Given the description of an element on the screen output the (x, y) to click on. 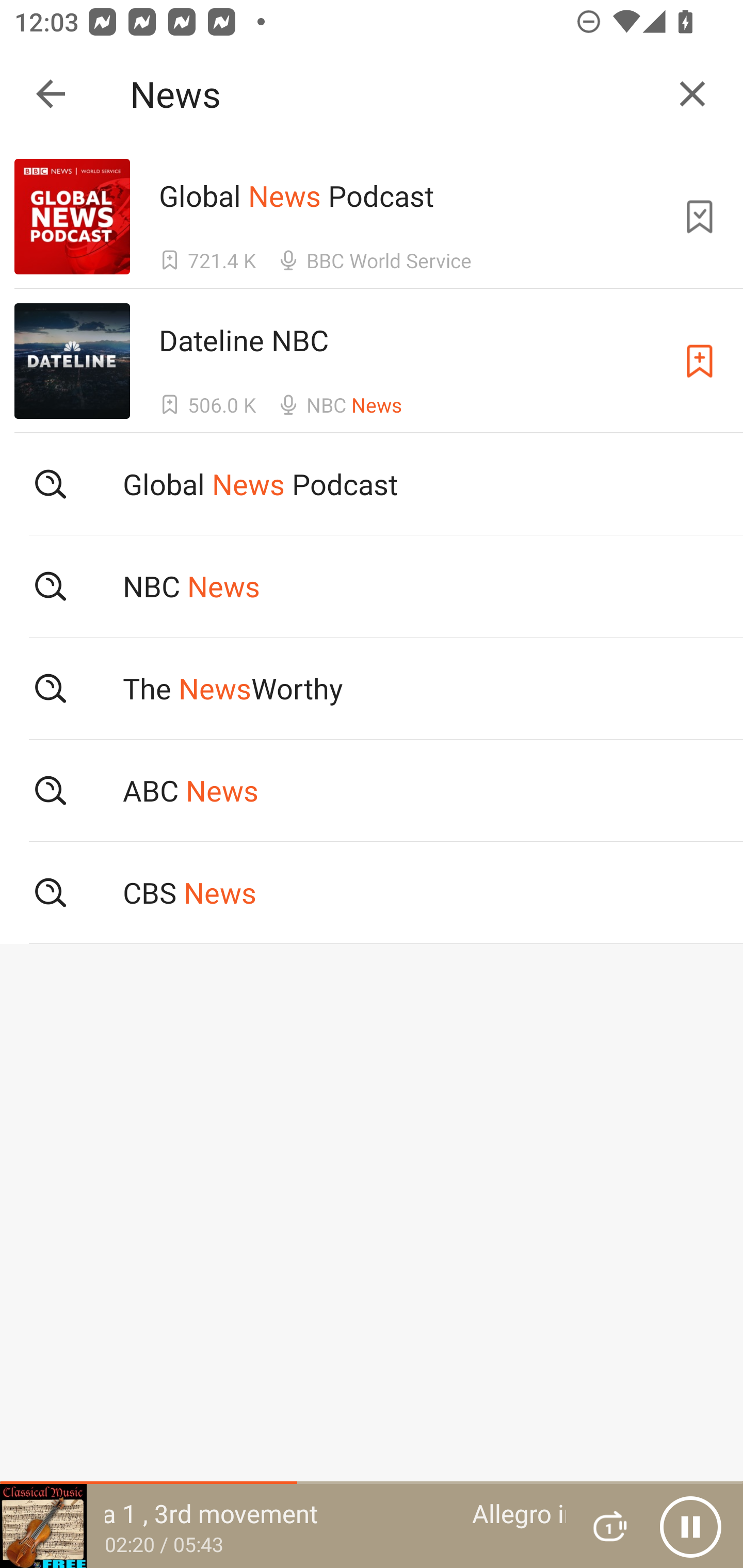
Collapse (50, 93)
Clear query (692, 93)
News (393, 94)
Unsubscribe (699, 216)
Subscribe (699, 360)
 Global News Podcast (371, 483)
 NBC News (371, 585)
 The NewsWorthy (371, 688)
 ABC News (371, 791)
 CBS News (371, 892)
Pause (690, 1526)
